Given the description of an element on the screen output the (x, y) to click on. 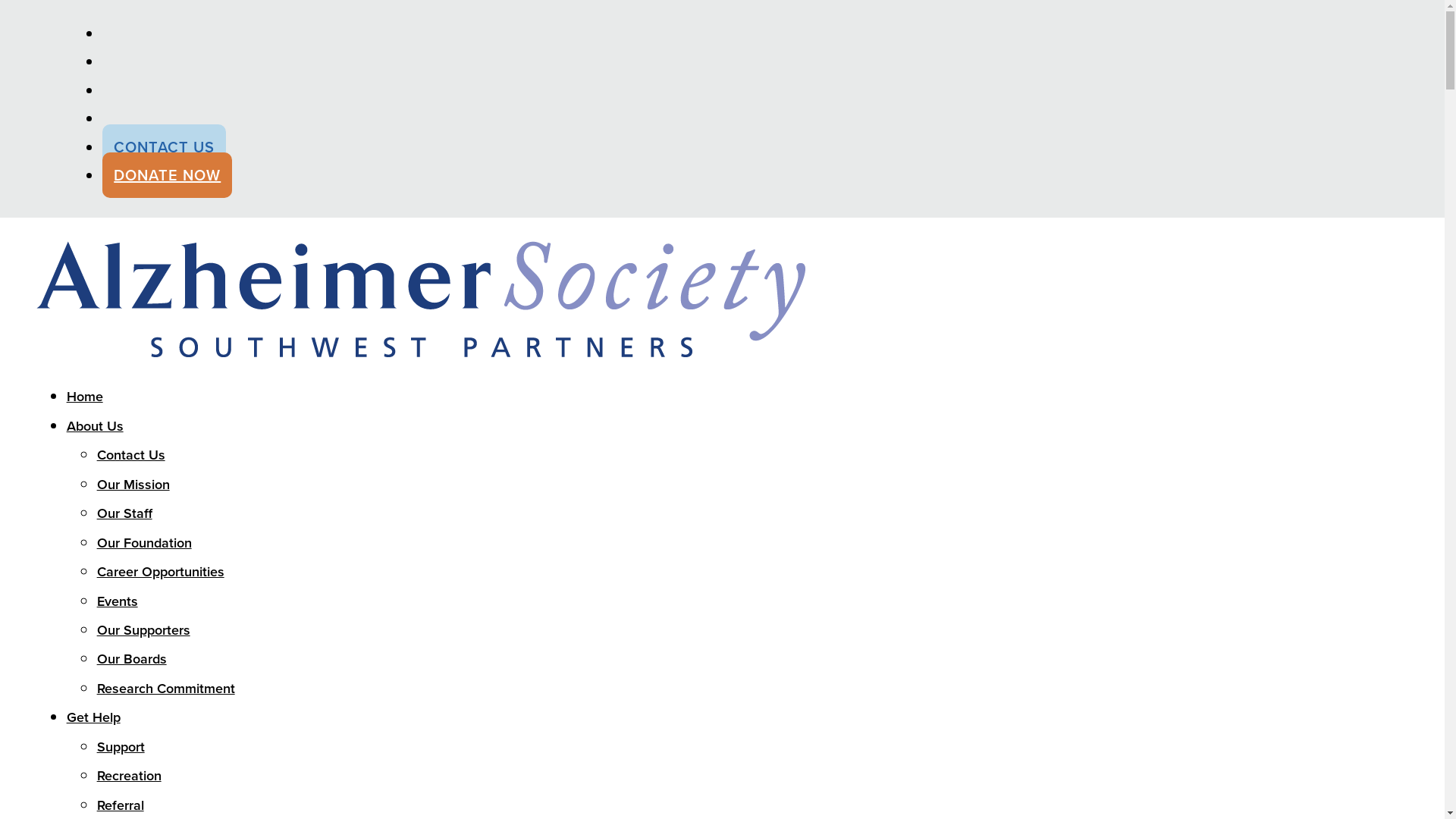
Our Supporters Element type: text (143, 630)
Recreation Element type: text (129, 775)
Our Boards Element type: text (131, 658)
ALZ SWP logo Element type: hover (420, 299)
DONATE NOW Element type: text (167, 174)
CONTACT US Element type: text (163, 146)
Get Help Element type: text (93, 717)
Support Element type: text (120, 746)
Home Element type: text (84, 396)
Career Opportunities Element type: text (160, 571)
Our Foundation Element type: text (144, 542)
About Us Element type: text (94, 426)
Referral Element type: text (120, 805)
Contact Us Element type: text (131, 454)
Our Mission Element type: text (133, 484)
Events Element type: text (117, 601)
Our Staff Element type: text (124, 513)
Research Commitment Element type: text (166, 688)
